Given the description of an element on the screen output the (x, y) to click on. 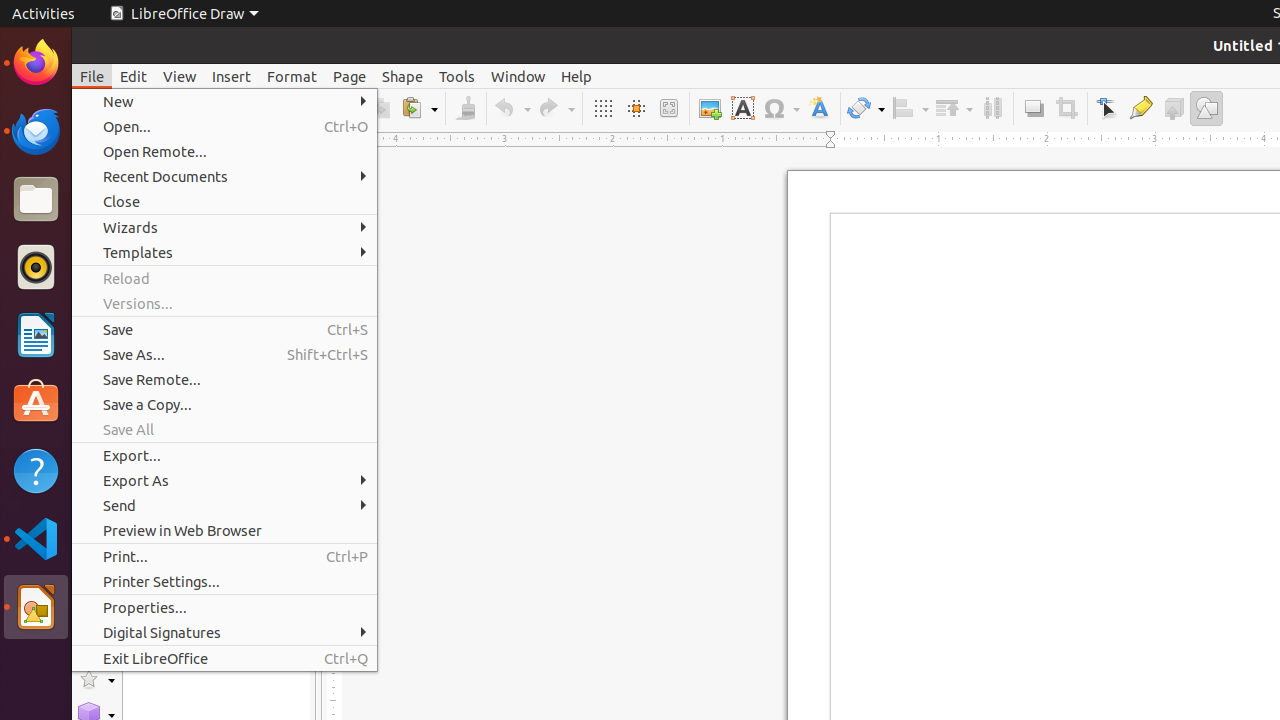
Align Element type: push-button (910, 108)
Transformations Element type: push-button (866, 108)
Versions... Element type: menu-item (224, 303)
Wizards Element type: menu (224, 227)
Open... Element type: menu-item (224, 126)
